Given the description of an element on the screen output the (x, y) to click on. 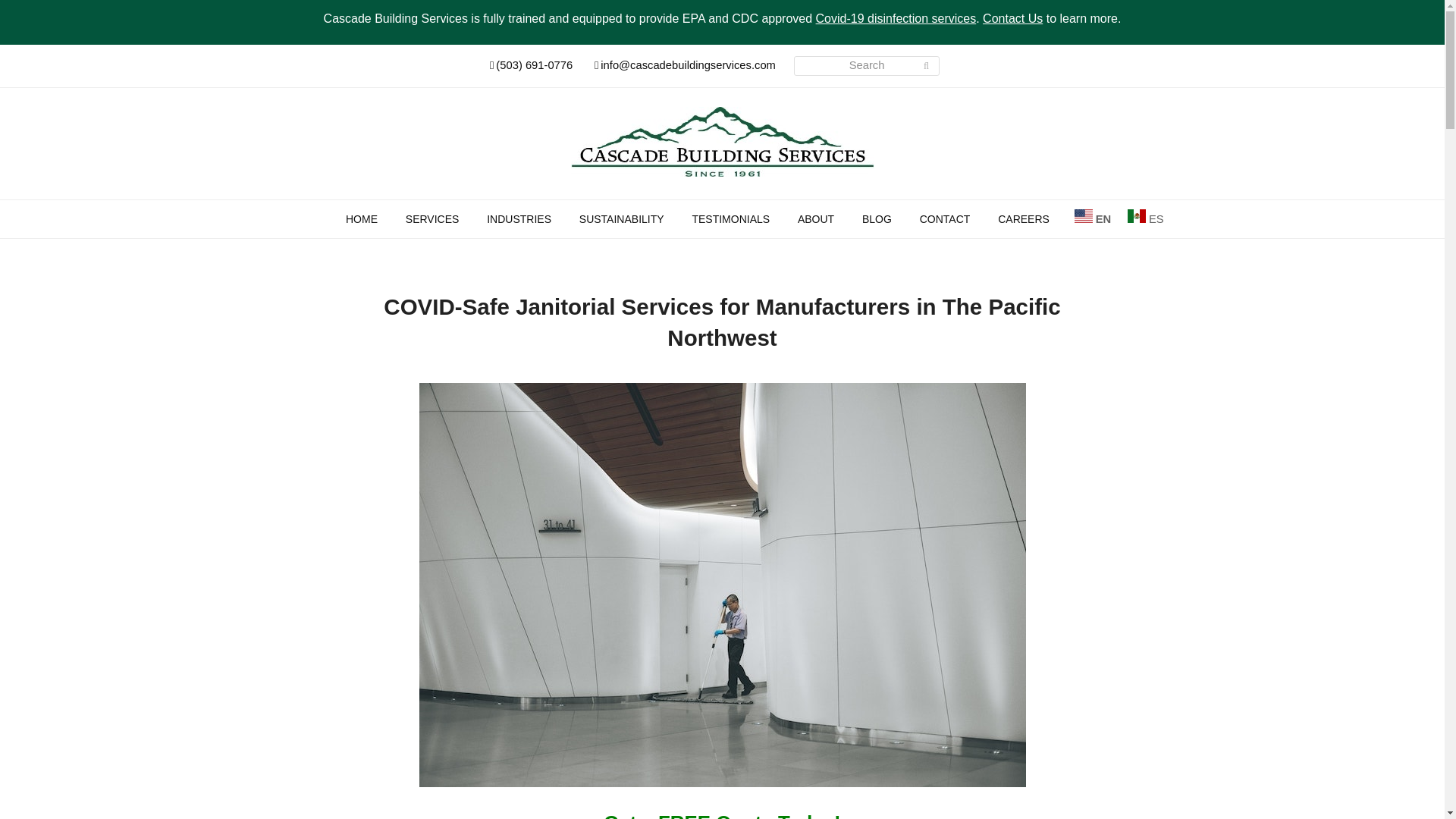
Commercial Cleaning Services Portland (432, 218)
Covid-19 disinfection services (895, 18)
Contact Us (1012, 18)
CONTACT (944, 218)
HOME (361, 218)
ABOUT (816, 218)
English (1091, 216)
Contact Portland Cleaning Company (944, 218)
BLOG (877, 218)
CAREERS (1023, 218)
SUSTAINABILITY (622, 218)
Cleaning Company Blog (877, 218)
Green  Cleaning Services Portland (622, 218)
INDUSTRIES (518, 218)
Cleaning Company Testimonials (730, 218)
